Given the description of an element on the screen output the (x, y) to click on. 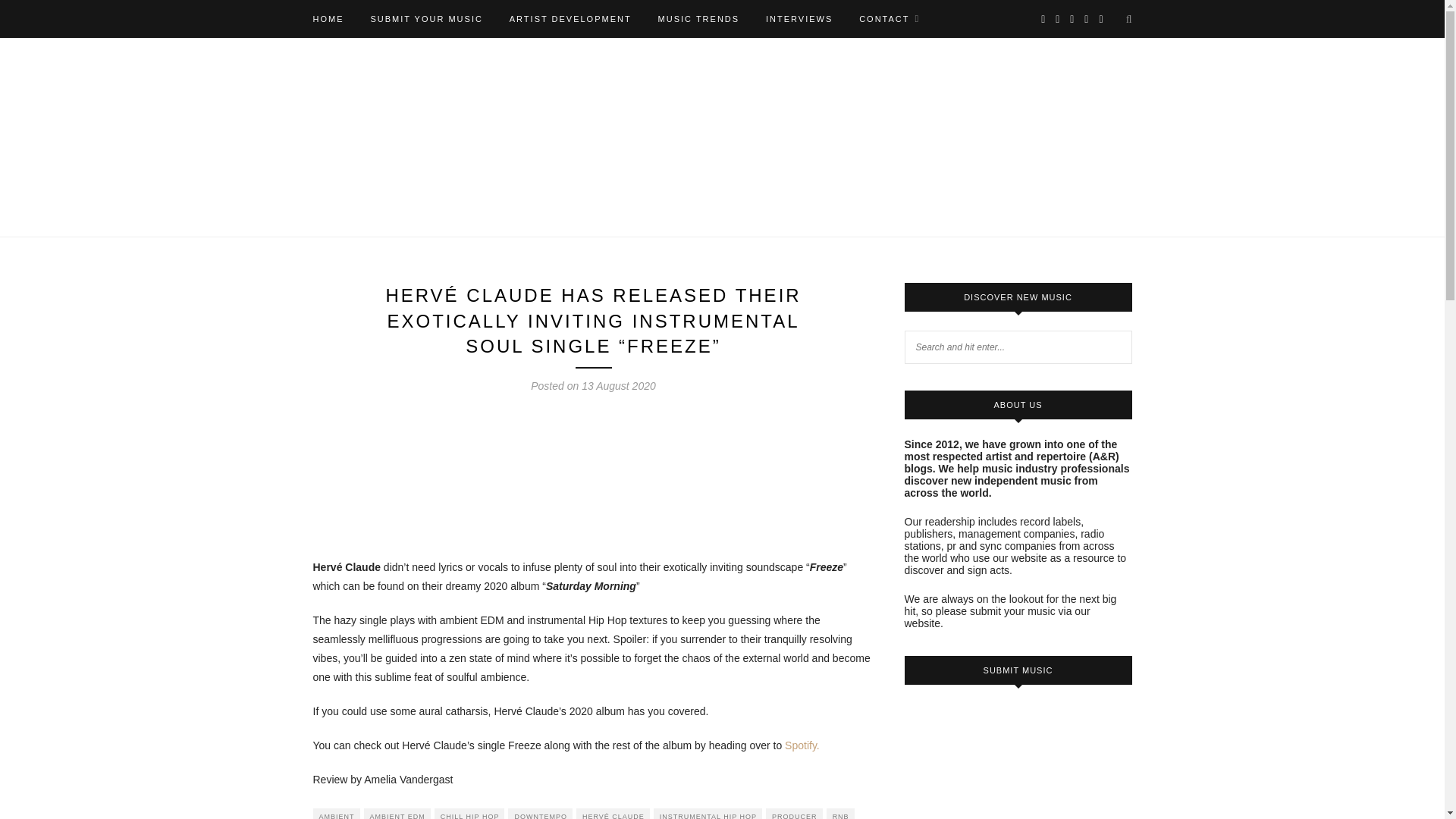
DOWNTEMPO (540, 813)
INSTRUMENTAL HIP HOP (707, 813)
INTERVIEWS (798, 18)
Spotify Embed: Freeze (593, 474)
MUSIC TRENDS (698, 18)
AMBIENT (336, 813)
Spotify. (801, 745)
AMBIENT EDM (397, 813)
CHILL HIP HOP (469, 813)
RNB (840, 813)
